Given the description of an element on the screen output the (x, y) to click on. 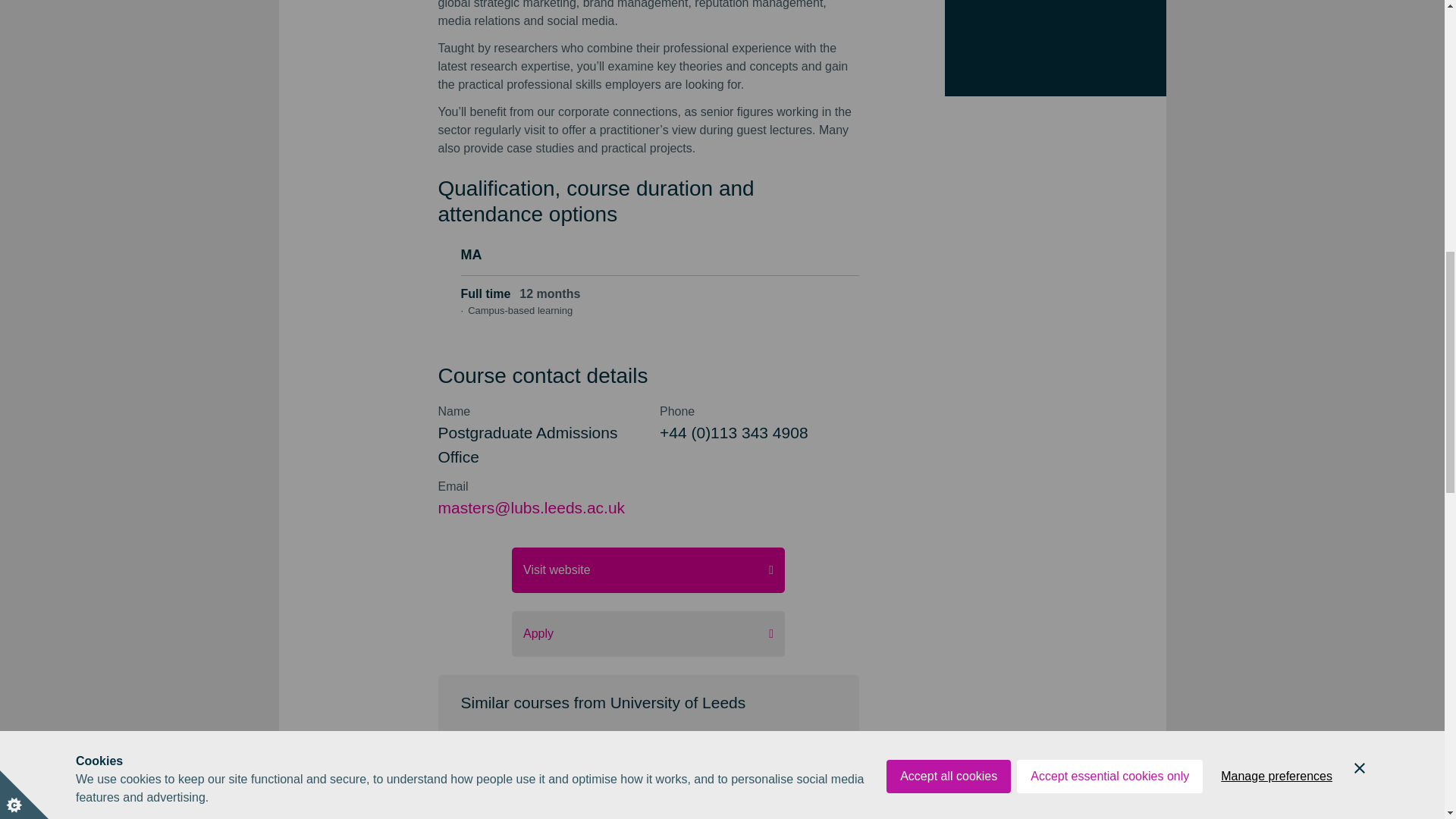
Accept all cookies (948, 5)
